Given the description of an element on the screen output the (x, y) to click on. 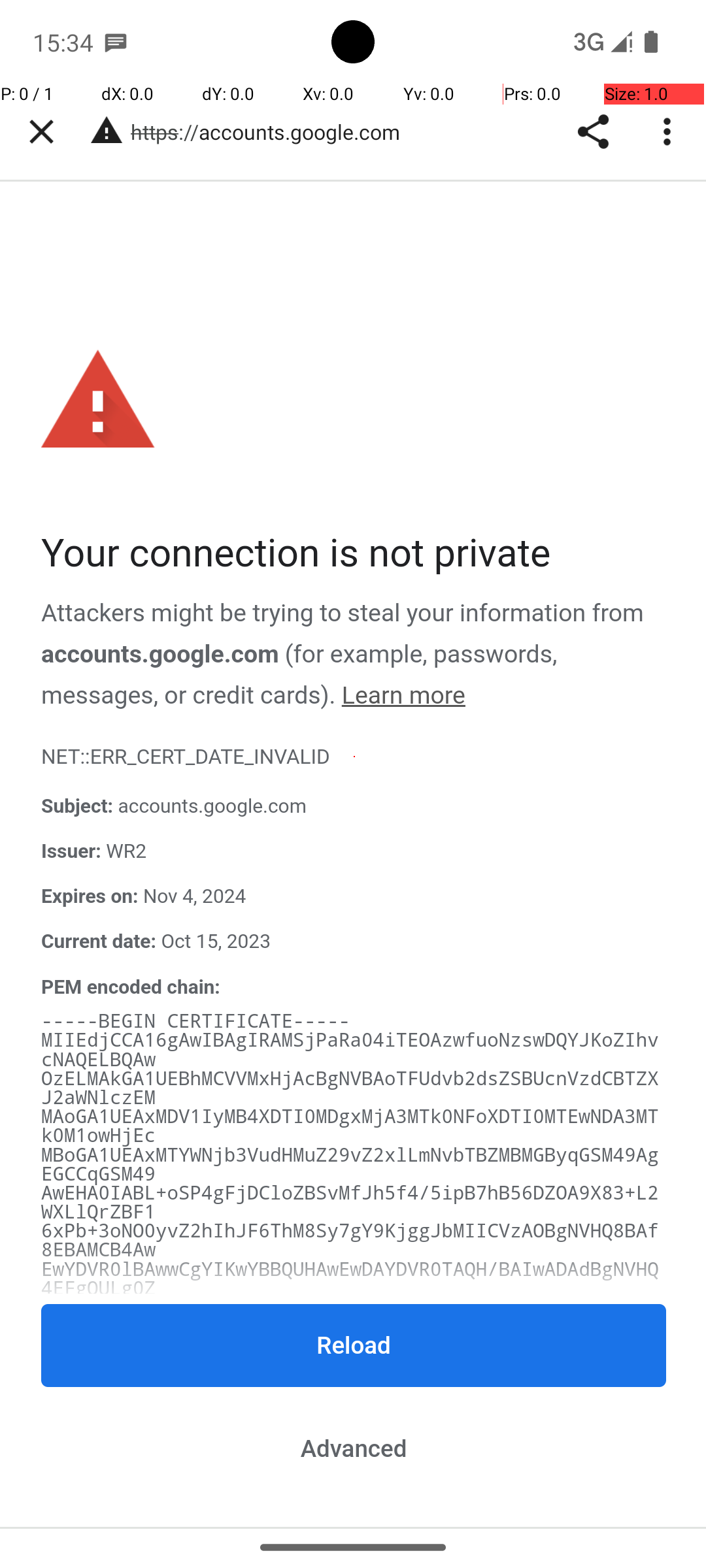
https://accounts.google.com Element type: android.widget.TextView (271, 131)
accounts.google.com Element type: android.widget.TextView (160, 653)
Subject: accounts.google.com Element type: android.widget.TextView (354, 806)
Issuer: WR2 Element type: android.widget.TextView (354, 851)
Expires on: Nov 4, 2024 Element type: android.widget.TextView (354, 896)
Current date: Oct 15, 2023 Element type: android.widget.TextView (354, 942)
PEM encoded chain: Element type: android.widget.TextView (130, 986)
-----BEGIN CERTIFICATE----- Element type: android.widget.TextView (196, 1021)
MIIEdjCCA16gAwIBAgIRAMSjPaRa04iTEOAzwfuoNzswDQYJKoZIhvcNAQELBQAw Element type: android.widget.TextView (349, 1049)
OzELMAkGA1UEBhMCVVMxHjAcBgNVBAoTFUdvb2dsZSBUcnVzdCBTZXJ2aWNlczEM Element type: android.widget.TextView (349, 1088)
MAoGA1UEAxMDV1IyMB4XDTI0MDgxMjA3MTk0NFoXDTI0MTEwNDA3MTk0M1owHjEc Element type: android.widget.TextView (349, 1126)
MBoGA1UEAxMTYWNjb3VudHMuZ29vZ2xlLmNvbTBZMBMGByqGSM49AgEGCCqGSM49 Element type: android.widget.TextView (349, 1164)
AwEHA0IABL+oSP4gFjDCloZBSvMfJh5f4/5ipB7hB56DZOA9X83+L2WXLlQrZBF1 Element type: android.widget.TextView (349, 1203)
6xPb+3oNO0yvZ2hIhJF6ThM8Sy7gY9KjggJbMIICVzAOBgNVHQ8BAf8EBAMCB4Aw Element type: android.widget.TextView (349, 1240)
EwYDVR0lBAwwCgYIKwYBBQUHAwEwDAYDVR0TAQH/BAIwADAdBgNVHQ4EFgQULg0Z Element type: android.widget.TextView (349, 1278)
m/nAEH9rGTNLnCqlPLbvxGYwHwYDVR0jBBgwFoAU3hse7XkV1D43JMMhu+w0OW1C Element type: android.widget.TextView (349, 1316)
sjAwWAYIKwYBBQUHAQEETDBKMCEGCCsGAQUFBzABhhVodHRwOi8vby5wa2kuZ29v Element type: android.widget.TextView (349, 1354)
Zy93cjIwJQYIKwYBBQUHMAKGGWh0dHA6Ly9pLnBraS5nb29nL3dyMi5jcnQwNQYD Element type: android.widget.TextView (349, 1392)
VR0RBC4wLIITYWNjb3VudHMuZ29vZ2xlLmNvbYIVKi5wYXJ0bmVyLmFuZHJvaWQu Element type: android.widget.TextView (349, 1431)
Y29tMBMGA1UdIAQMMAowCAYGZ4EMAQIBMDYGA1UdHwQvMC0wK6ApoCeGJWh0dHA6 Element type: android.widget.TextView (349, 1469)
Ly9jLnBraS5nb29nL3dyMi9vQkZZWWFoemdWSS5jcmwwggECBgorBgEEAdZ5AgQC Element type: android.widget.TextView (349, 1507)
BIHzBIHwAO4AdQDuzdBk1dsazsVct520zROiModGfLzs3sNRSFlGcR+1mwAAAZFF Element type: android.widget.TextView (349, 1526)
